Given the description of an element on the screen output the (x, y) to click on. 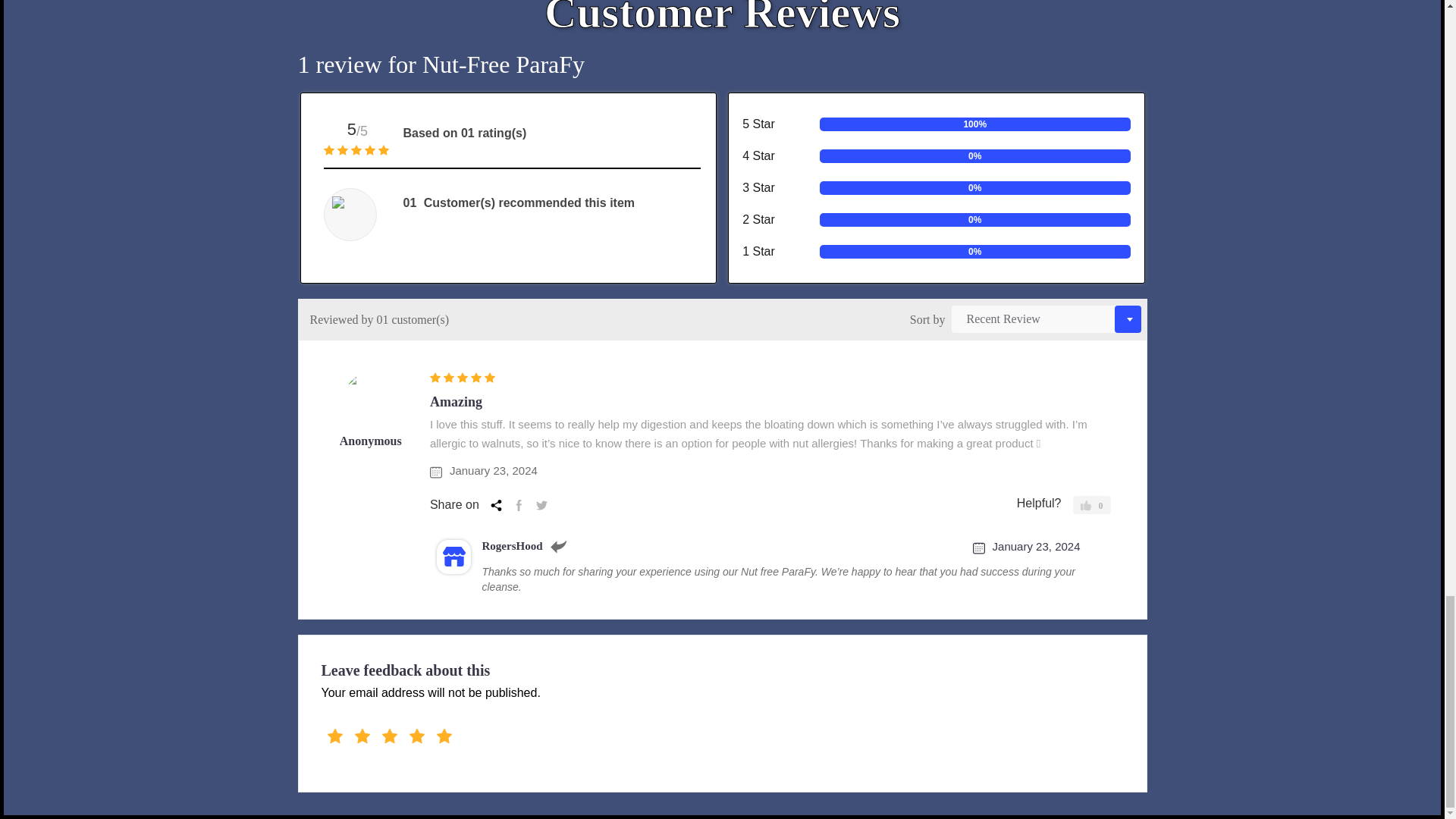
Good (389, 739)
2 (326, 732)
Poor (362, 739)
Very Good (416, 739)
Outstanding (444, 739)
1 (326, 732)
3 (326, 732)
Very Poor (335, 739)
5 (326, 732)
4 (326, 732)
